Given the description of an element on the screen output the (x, y) to click on. 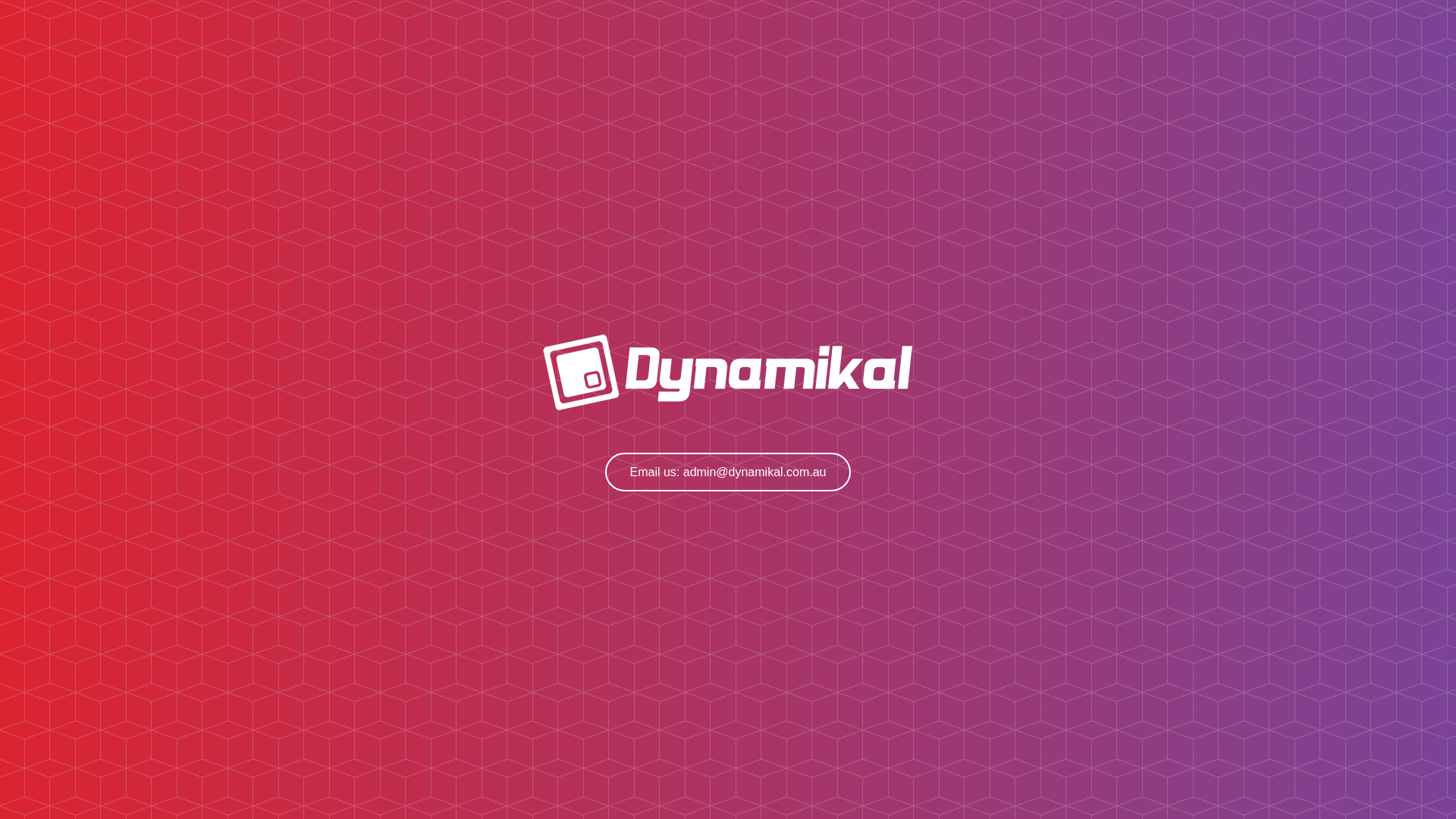
Email us: admin@dynamikal.com.au Element type: text (727, 471)
